Given the description of an element on the screen output the (x, y) to click on. 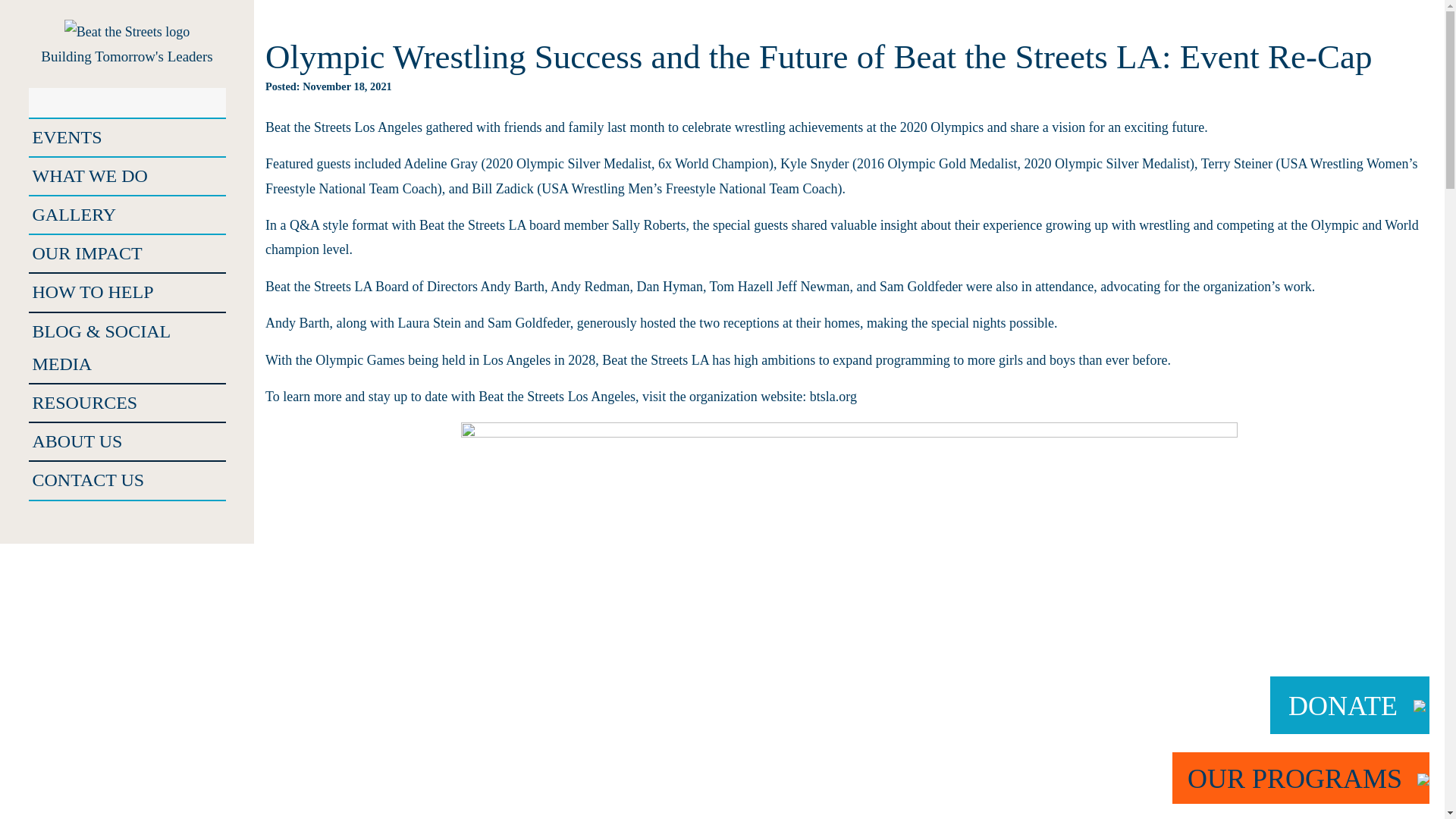
OUR IMPACT (127, 253)
HOW TO HELP (127, 292)
Search (39, 100)
EVENTS (127, 137)
ABOUT US (127, 441)
CONTACT US (127, 479)
RESOURCES (127, 402)
Search (39, 100)
GALLERY (127, 214)
WHAT WE DO (127, 176)
